Given the description of an element on the screen output the (x, y) to click on. 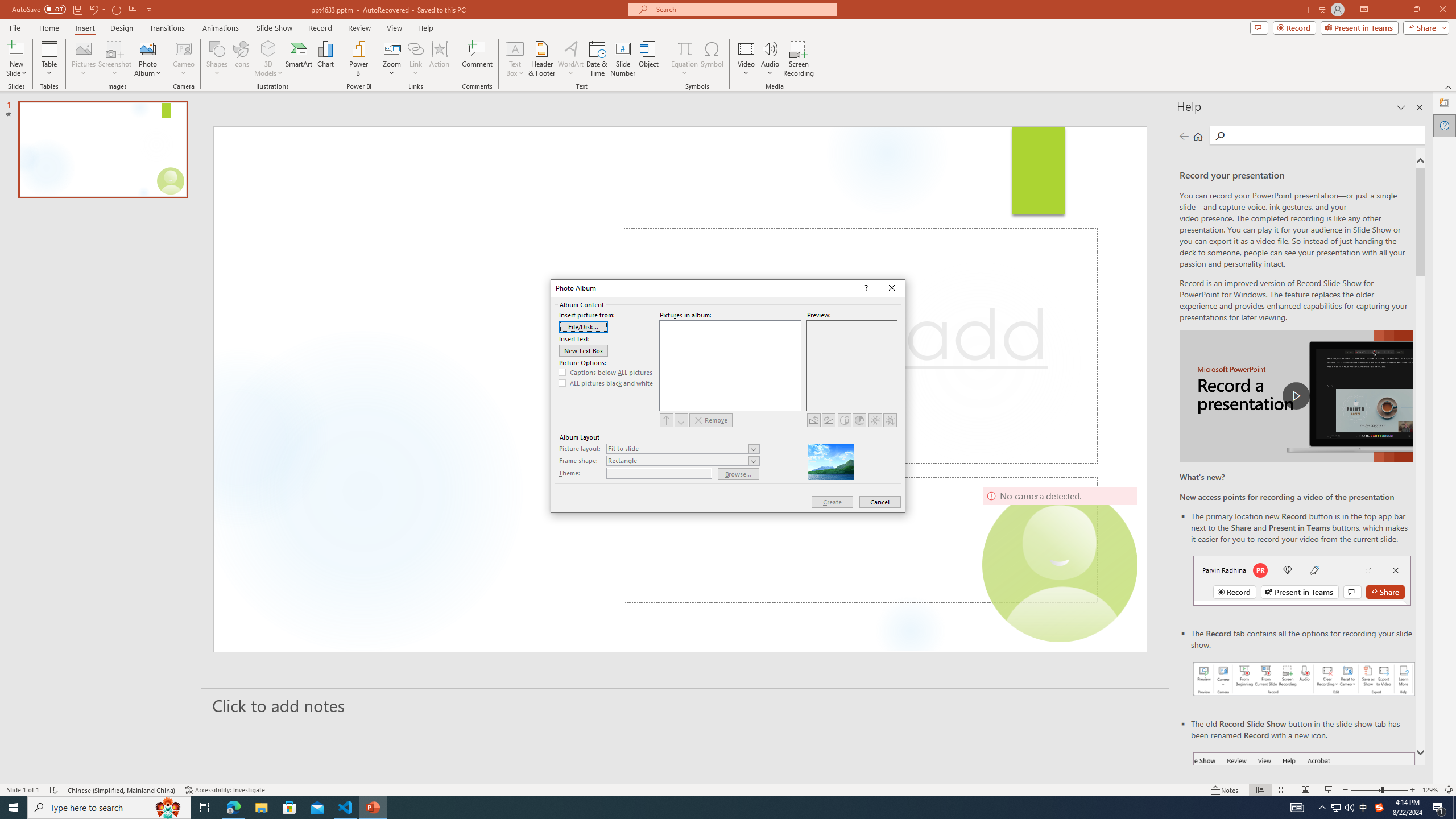
Search highlights icon opens search home window (167, 807)
Task View (204, 807)
Action Center, 1 new notification (1439, 807)
